Given the description of an element on the screen output the (x, y) to click on. 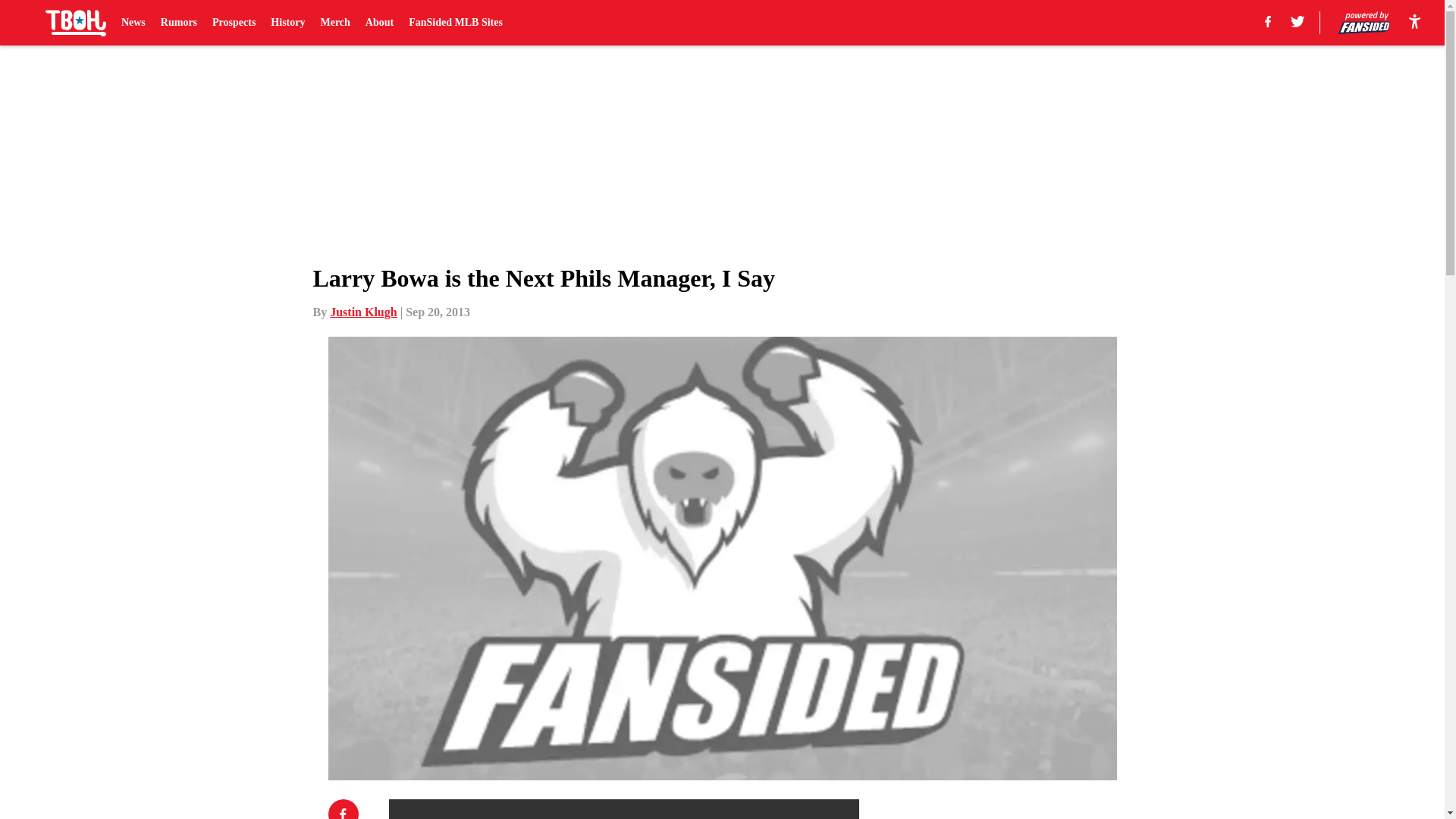
Prospects (234, 22)
FanSided MLB Sites (455, 22)
Rumors (178, 22)
History (287, 22)
Merch (334, 22)
News (132, 22)
About (379, 22)
Justin Klugh (363, 311)
